Given the description of an element on the screen output the (x, y) to click on. 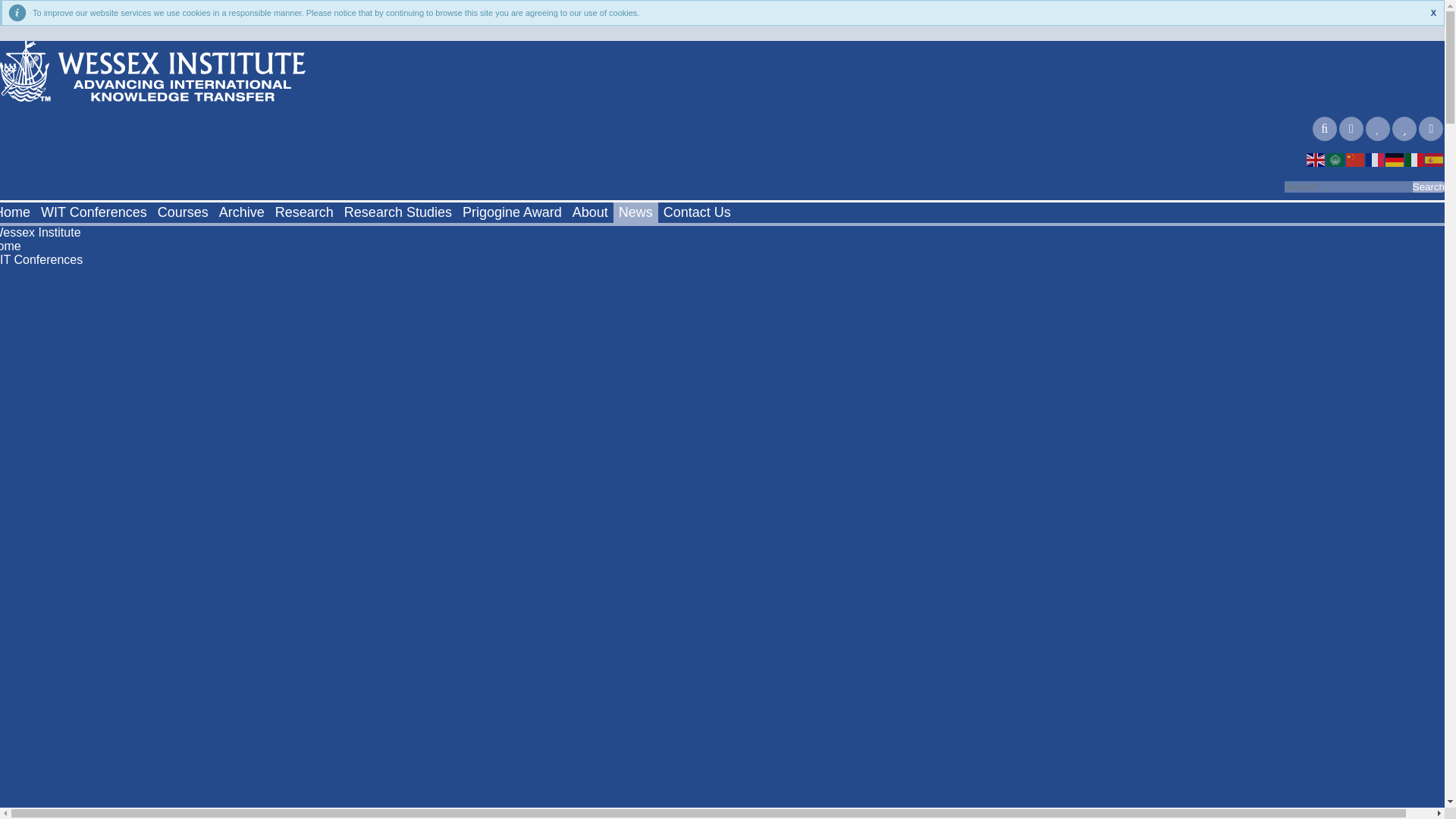
English (1316, 158)
Sustainable Tourism 2024 (71, 343)
WIT Conferences (93, 212)
Home (17, 212)
ERES 2025 (33, 307)
Contact Us (697, 212)
Courses (183, 212)
Research (304, 212)
Deutsch (1395, 158)
About (589, 212)
Prigogine Award (512, 212)
Home (10, 245)
News (635, 212)
2023 (15, 371)
Energy and Sustainability 2023 (85, 380)
